Given the description of an element on the screen output the (x, y) to click on. 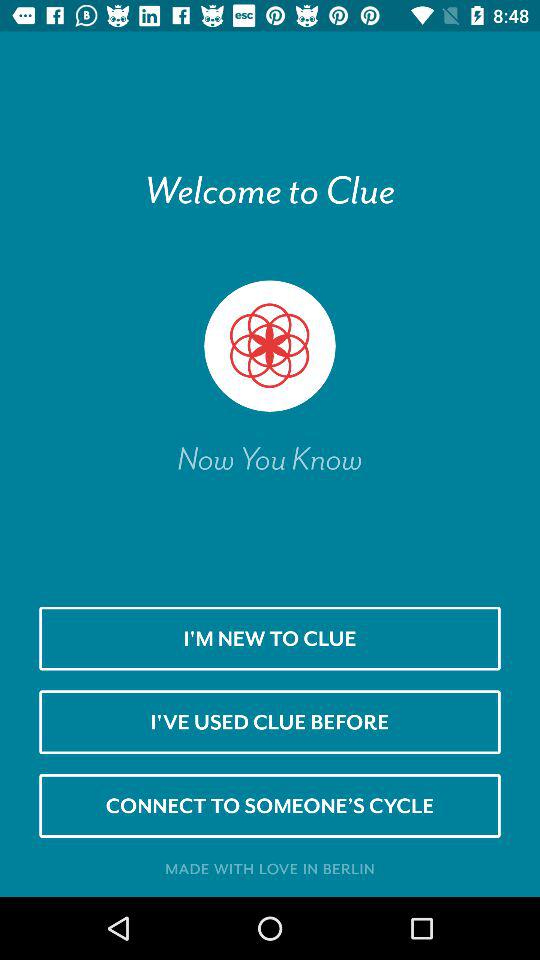
flip until the connect to someone item (269, 805)
